Given the description of an element on the screen output the (x, y) to click on. 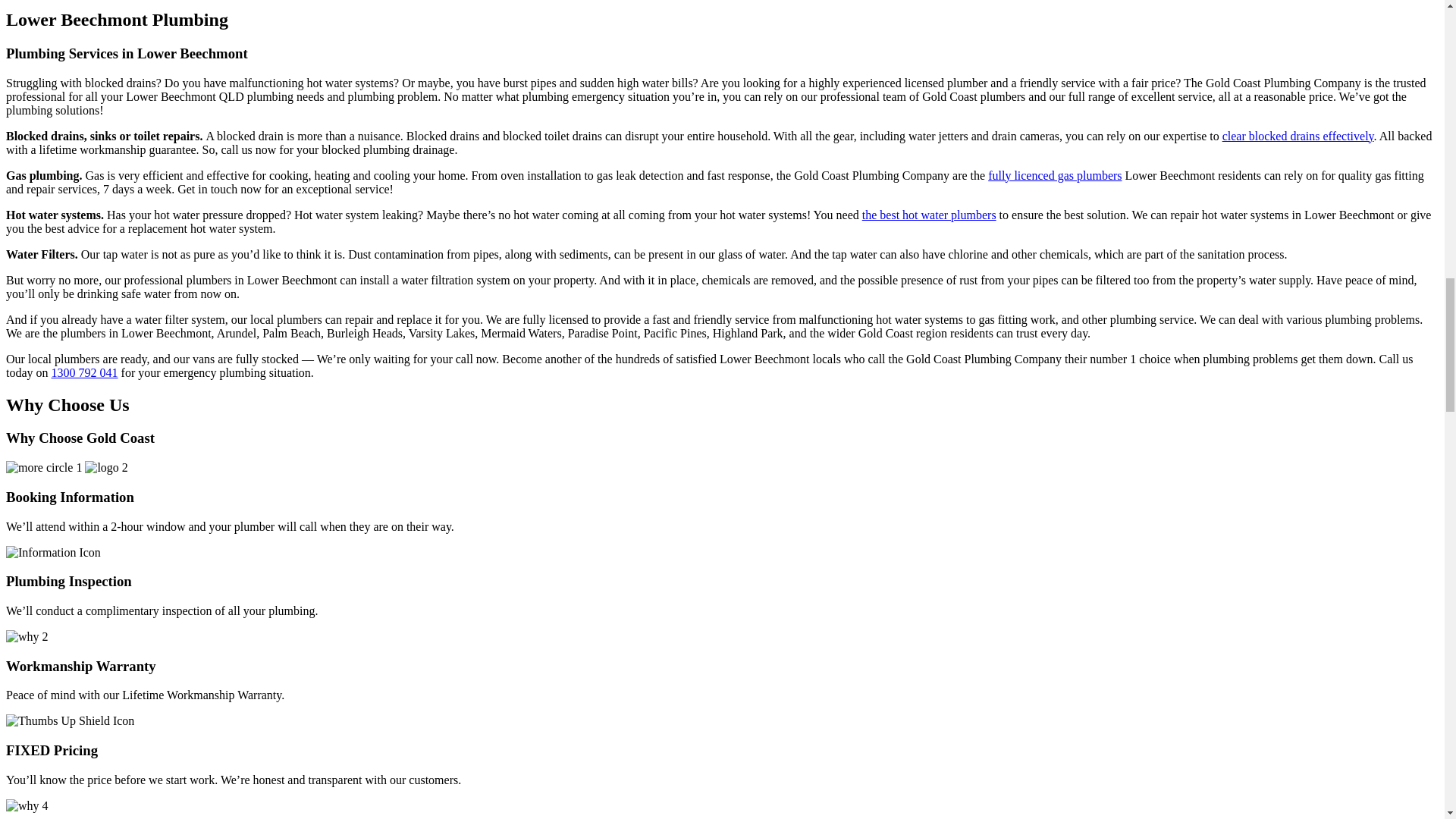
why 4 (26, 806)
why 2 (26, 636)
Information Icon (52, 552)
logo 2 (106, 468)
Thumbs Up Shield Icon (69, 721)
more circle 1 (43, 468)
